Given the description of an element on the screen output the (x, y) to click on. 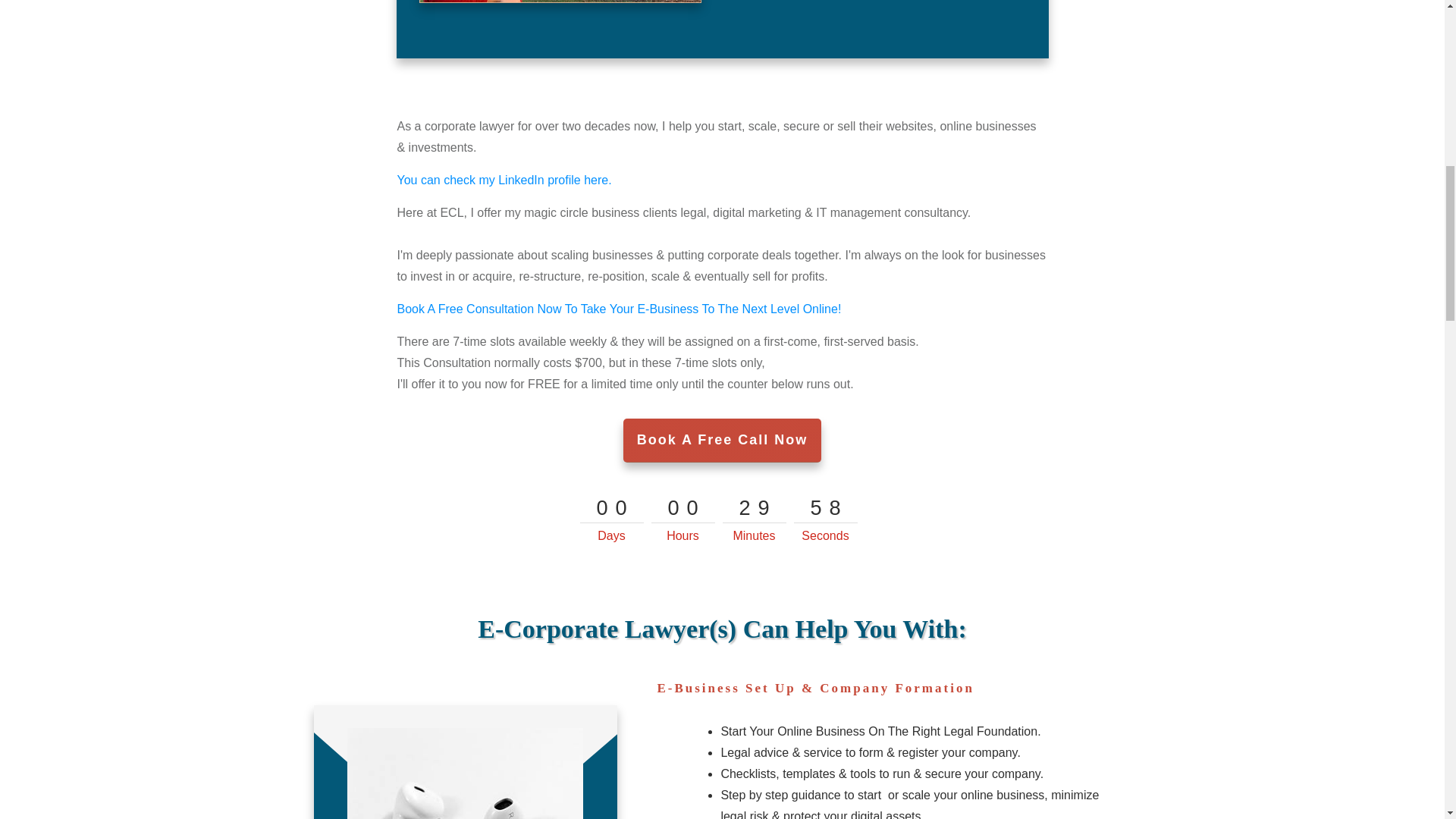
Book A Free Call Now (722, 440)
You can check my LinkedIn profile here. (504, 179)
